Given the description of an element on the screen output the (x, y) to click on. 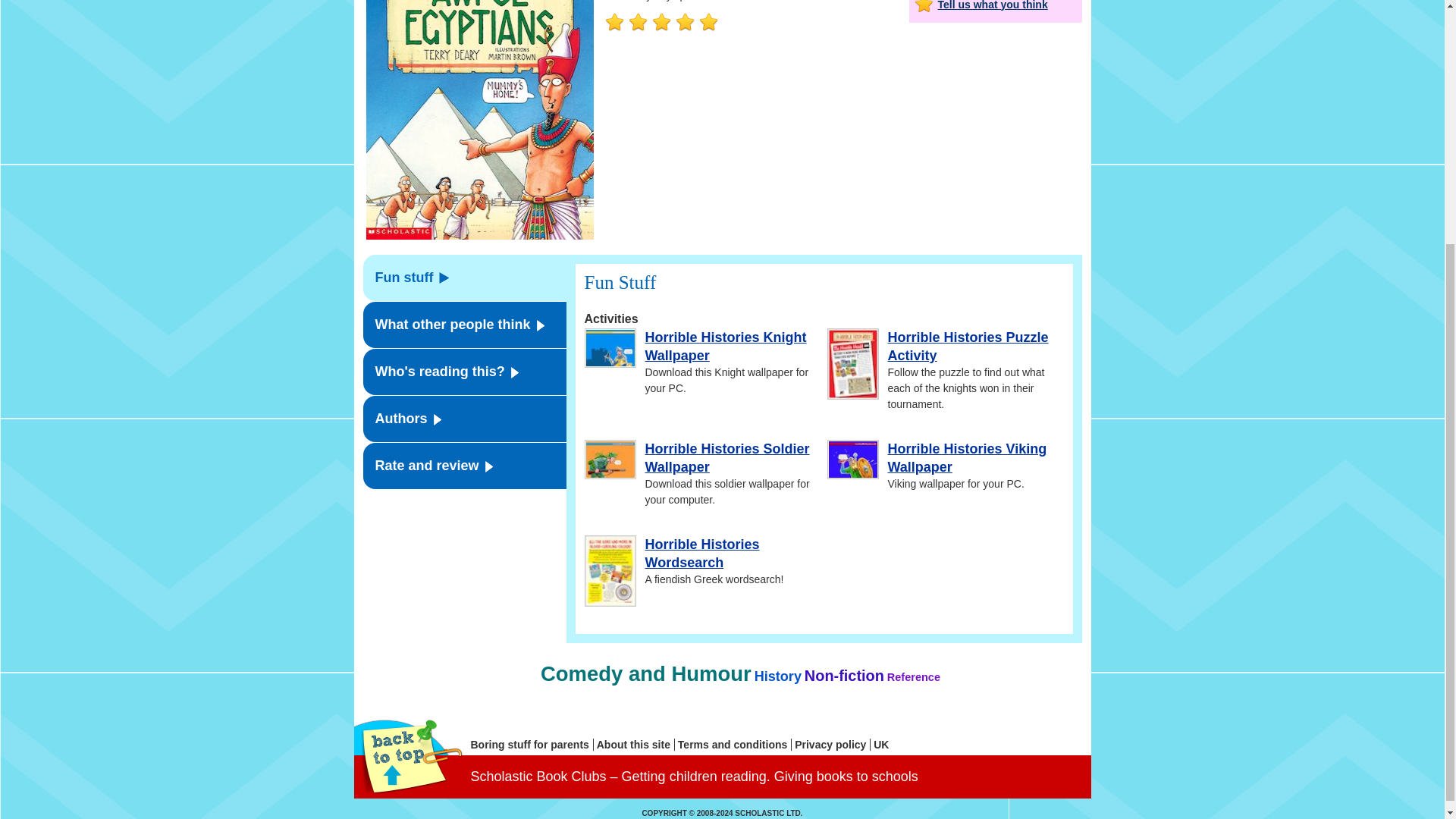
Look inside (478, 119)
Fun stuff (464, 277)
Authors (464, 418)
Horrible Histories Viking Wallpaper (966, 458)
Horrible Histories Puzzle Activity (967, 346)
Horrible Histories Soldier Wallpaper (727, 458)
Rate and review (464, 465)
Who's reading this? (464, 371)
Tell us what you think (994, 6)
Horrible Histories Wordsearch (701, 553)
What other people think (464, 325)
Horrible Histories Knight Wallpaper (725, 346)
